Given the description of an element on the screen output the (x, y) to click on. 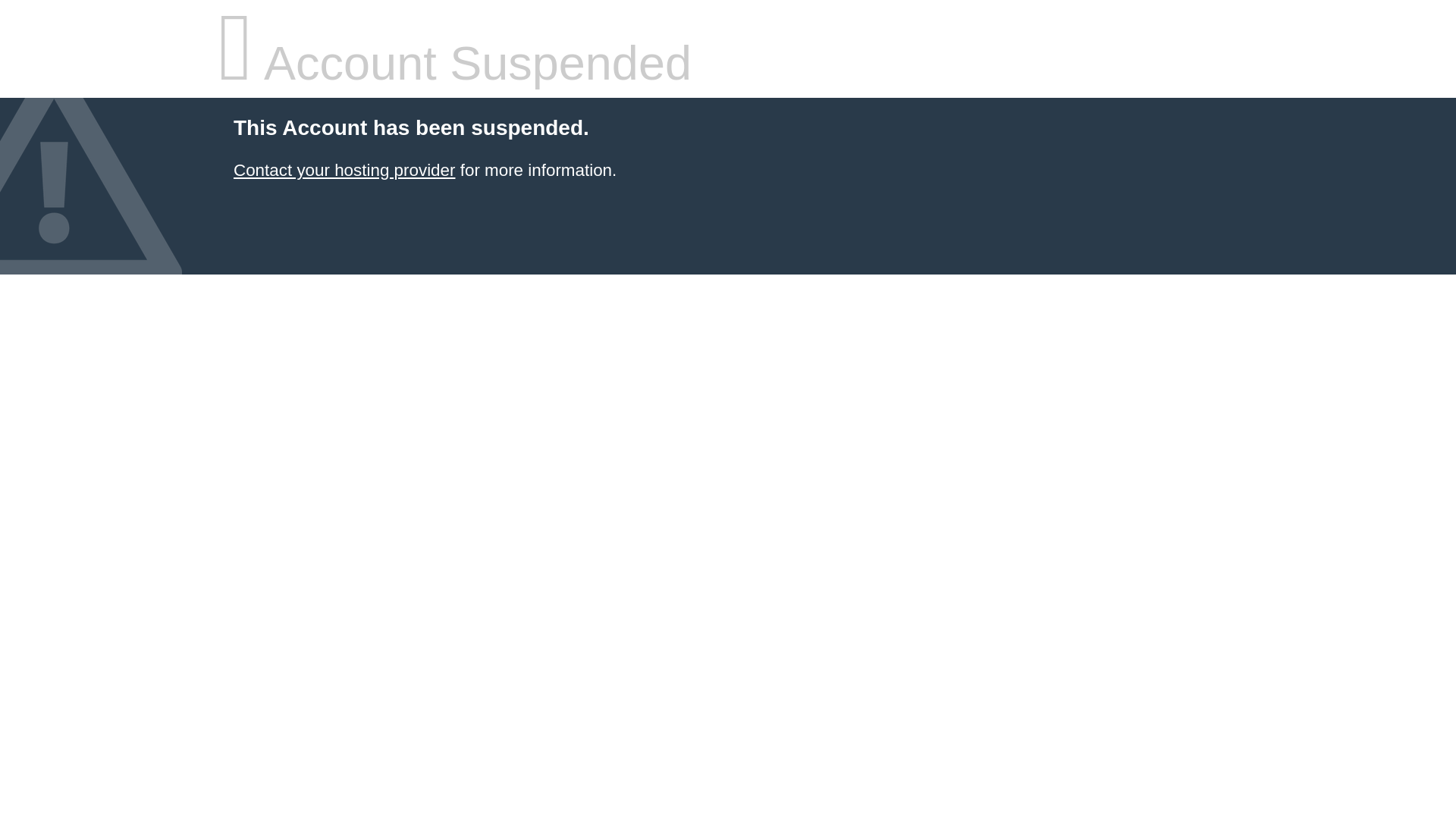
Contact your hosting provider (343, 169)
